Given the description of an element on the screen output the (x, y) to click on. 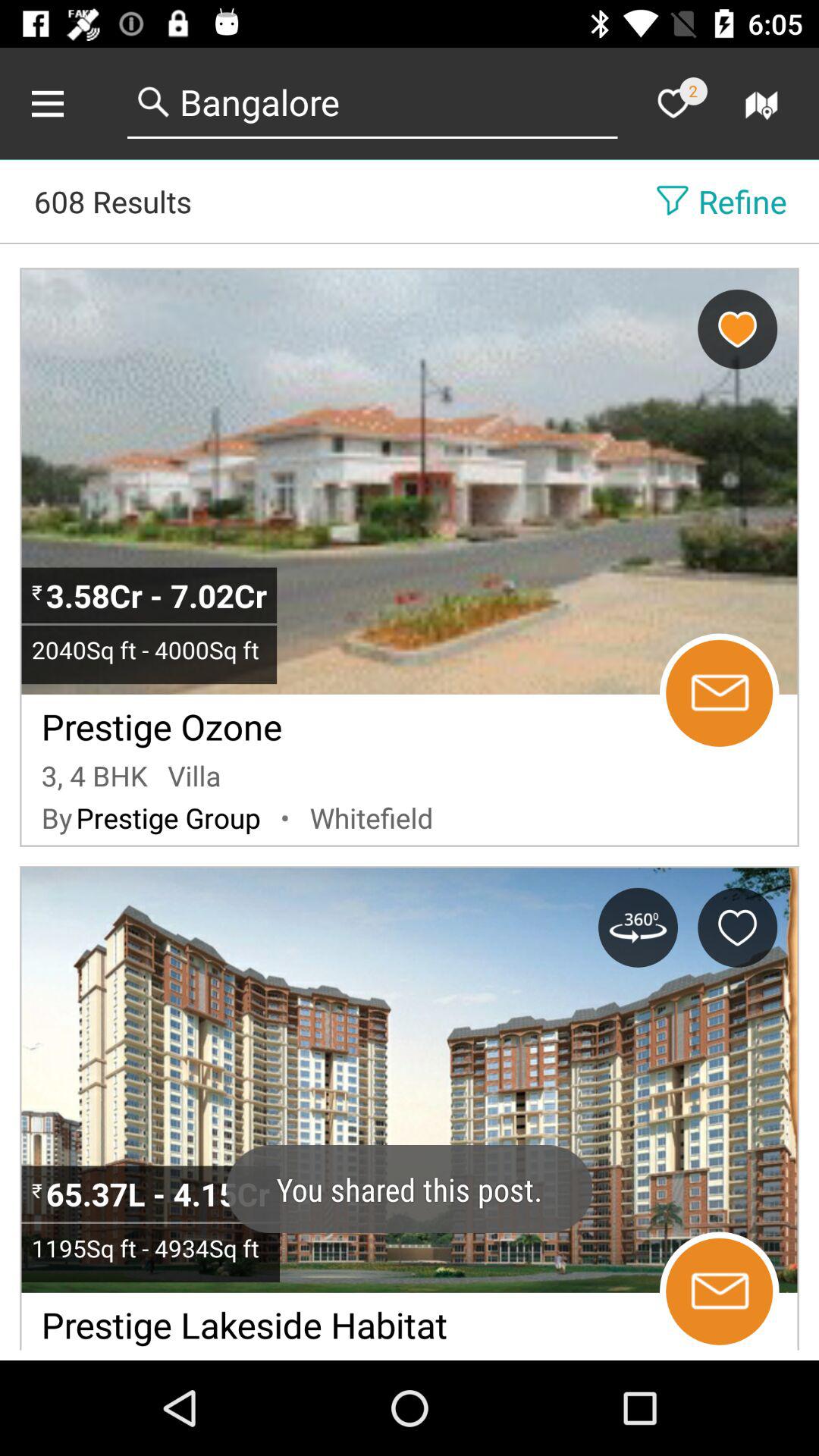
add to favorites (737, 927)
